Given the description of an element on the screen output the (x, y) to click on. 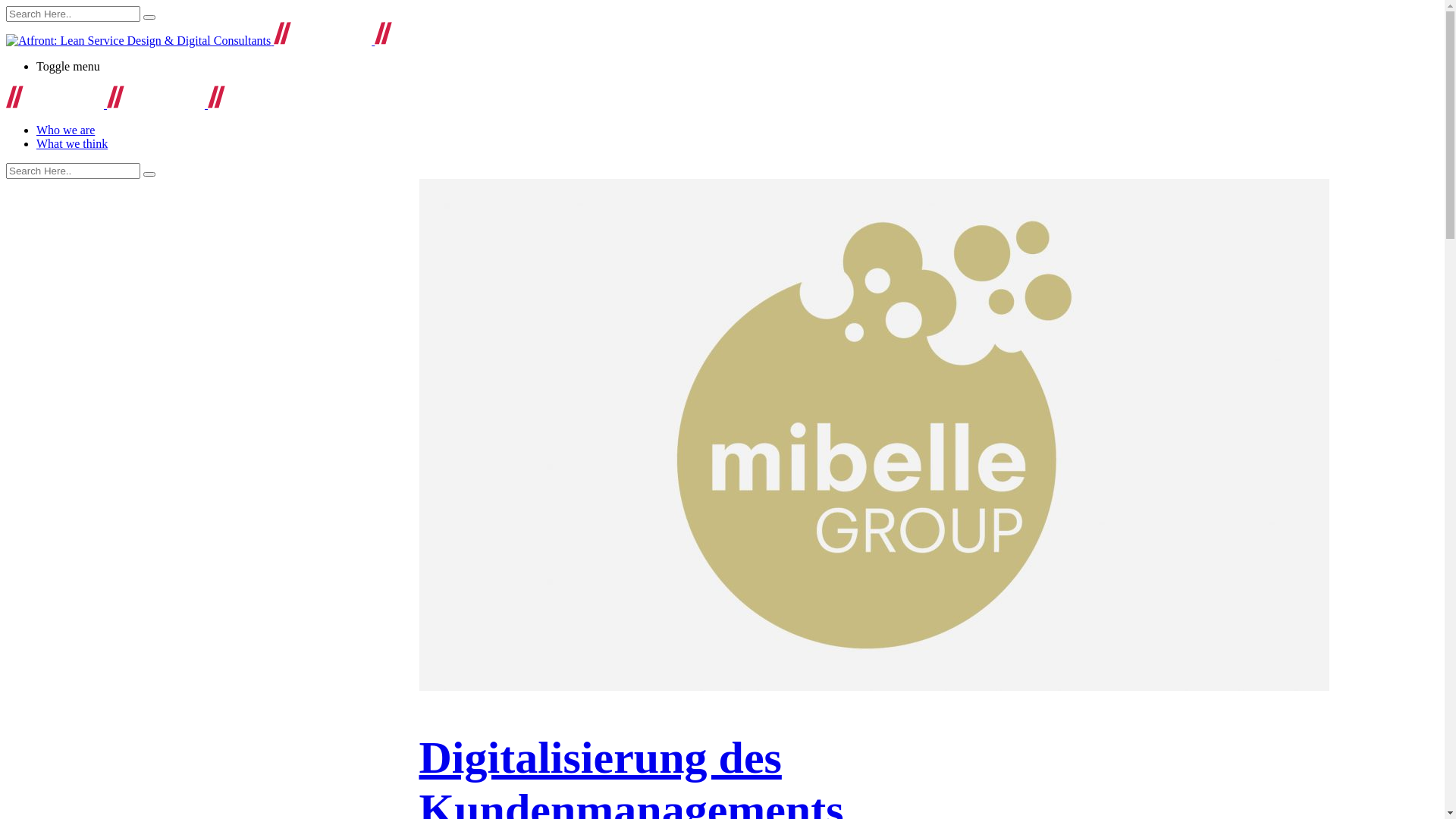
What we think Element type: text (71, 143)
Who we are Element type: text (65, 129)
Toggle menu Element type: text (737, 66)
